Given the description of an element on the screen output the (x, y) to click on. 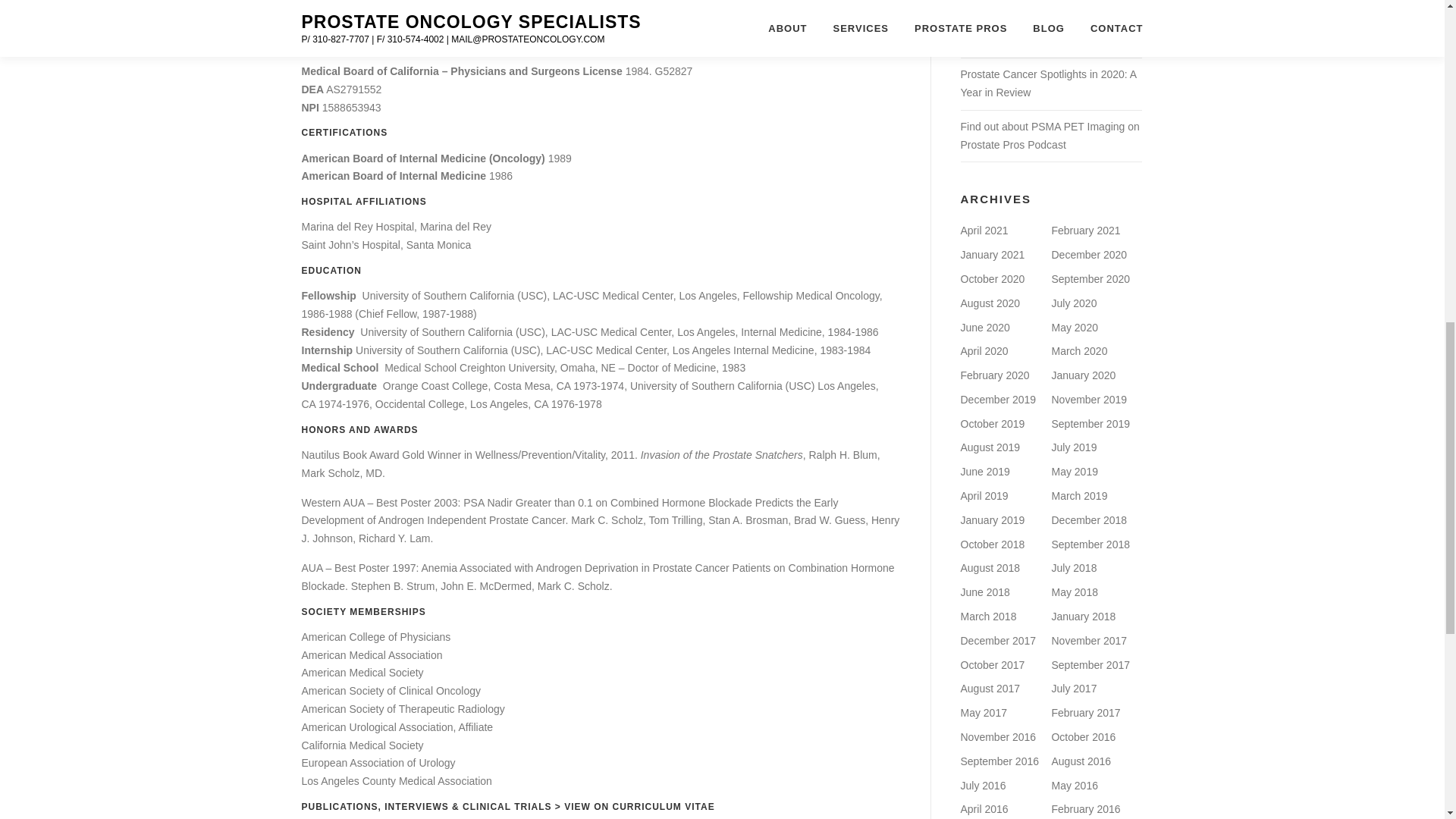
Find out about PSMA PET Imaging on Prostate Pros Podcast (1048, 135)
Prostate Cancer Spotlights in 2020: A Year in Review (1047, 82)
VIEW ON CURRICULUM VITAE (639, 806)
April 2021 (983, 230)
